Given the description of an element on the screen output the (x, y) to click on. 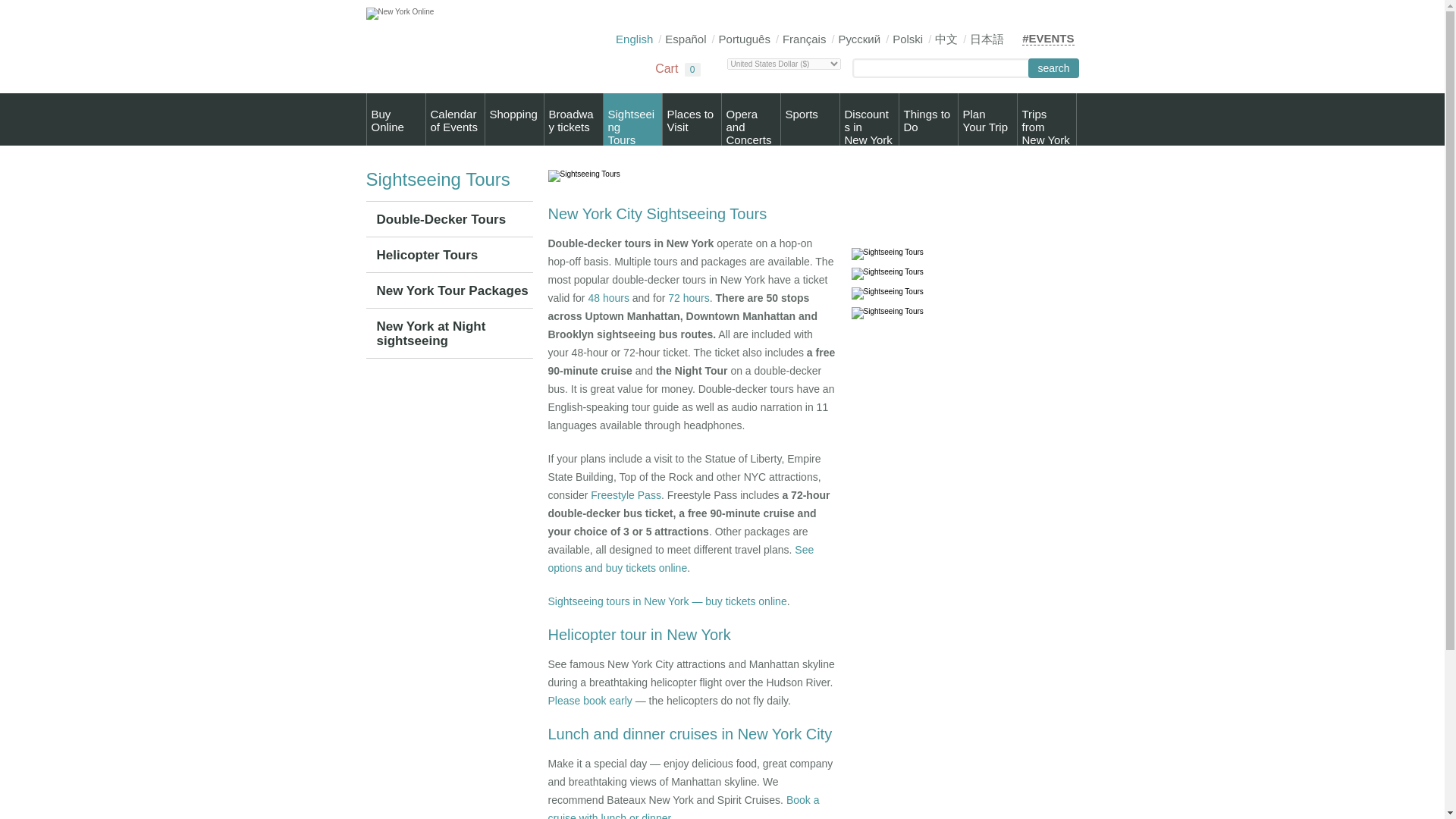
Sightseeing Tours (886, 254)
  Cart 0 (668, 69)
Things to Do (869, 119)
English (987, 119)
 Helicopter Tours (928, 119)
Sightseeing Tours (633, 119)
